Given the description of an element on the screen output the (x, y) to click on. 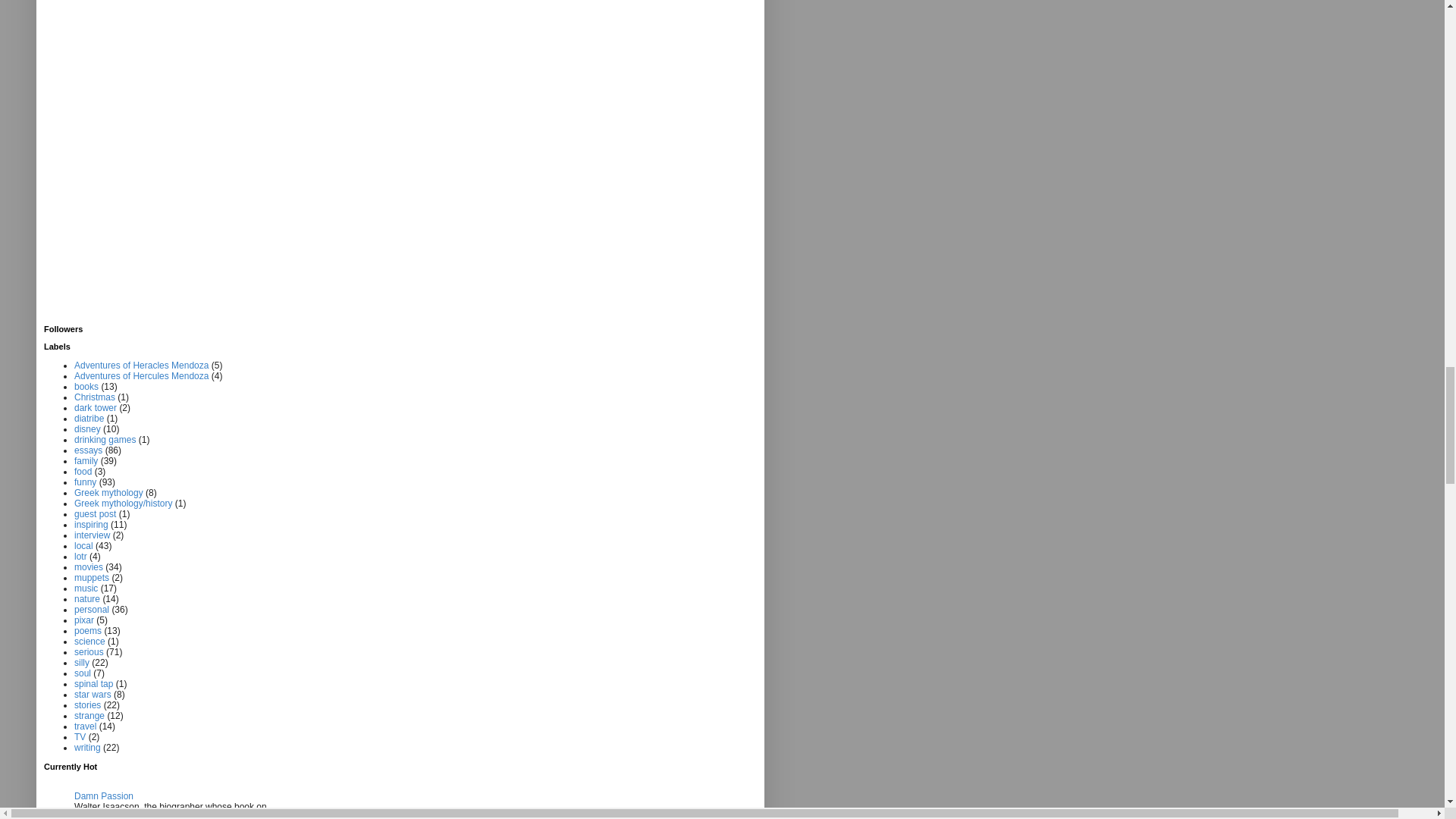
Advertisement (104, 161)
drinking games (104, 439)
Christmas (94, 397)
essays (87, 450)
dark tower (95, 407)
family (85, 460)
Adventures of Heracles Mendoza (141, 365)
disney (87, 429)
Adventures of Hercules Mendoza (141, 376)
diatribe (88, 418)
books (86, 386)
